Given the description of an element on the screen output the (x, y) to click on. 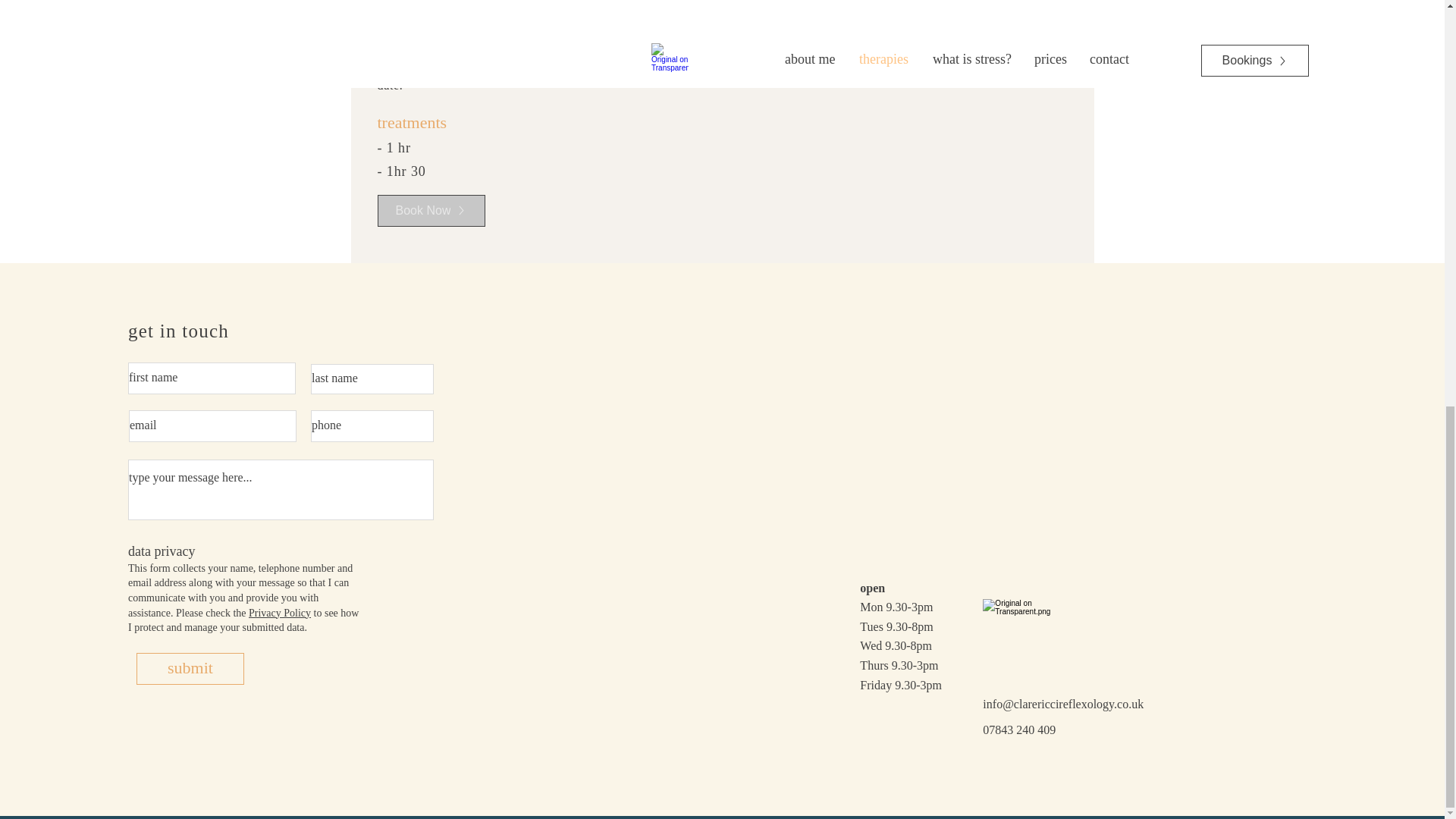
submit (190, 668)
Privacy Policy  (281, 613)
Book Now (430, 210)
07843 240 409 (1018, 729)
open (872, 587)
Google Maps (994, 450)
